Given the description of an element on the screen output the (x, y) to click on. 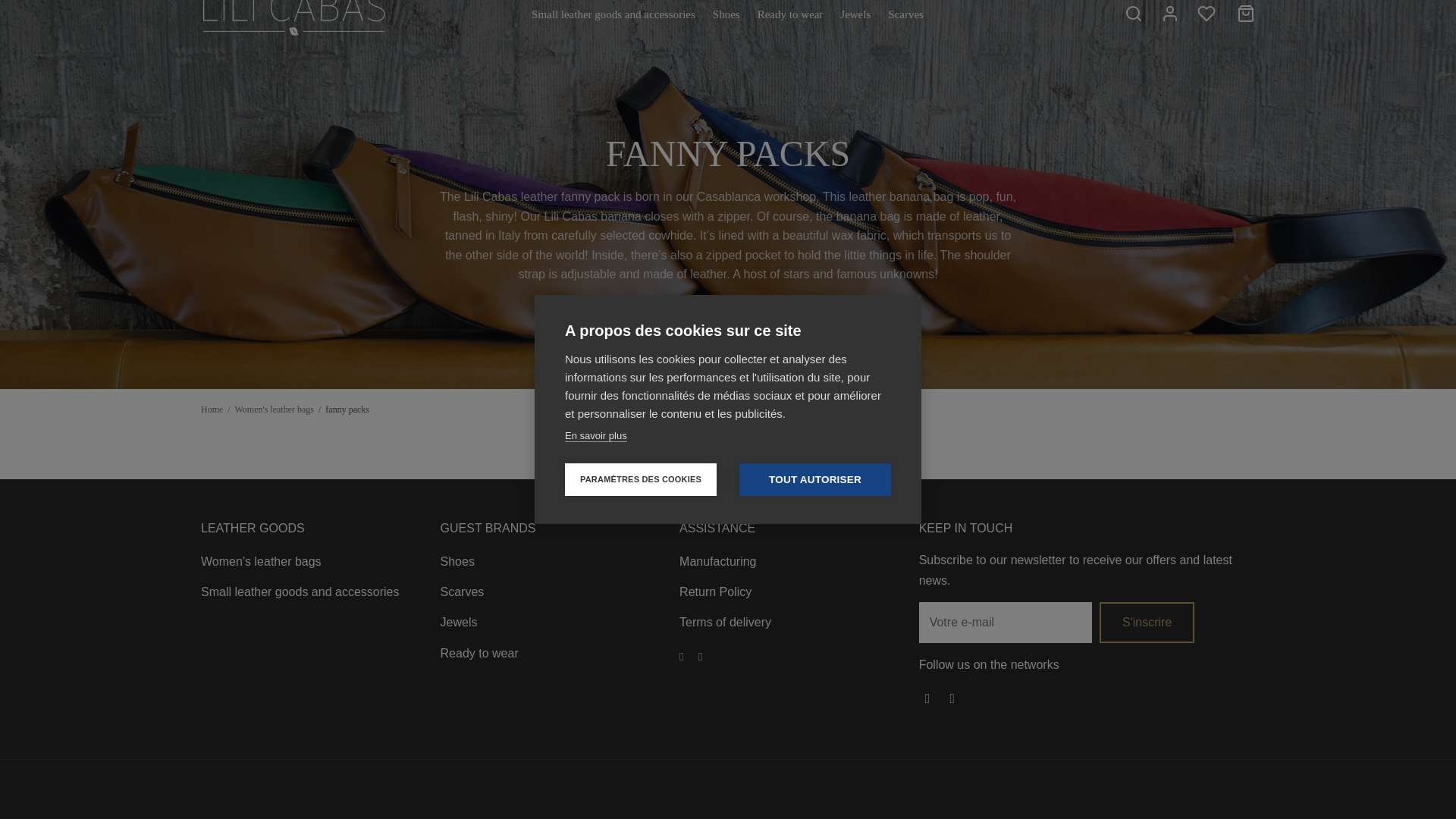
Small leather goods and accessories (613, 13)
Scarves (905, 13)
Shoes (726, 13)
S'inscrire (1146, 621)
Jewels (855, 13)
Ready to wear (790, 13)
